Given the description of an element on the screen output the (x, y) to click on. 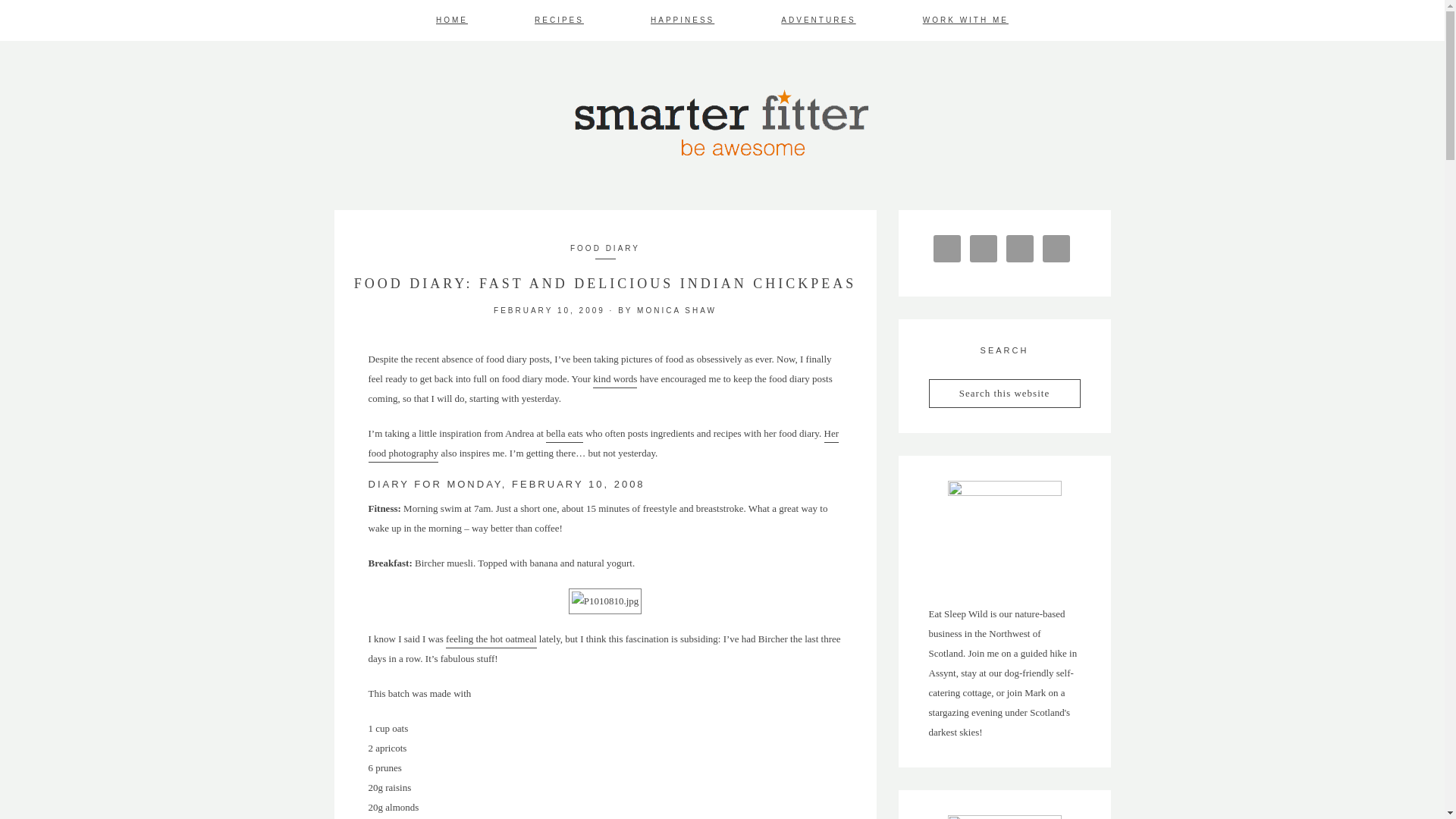
kind words (614, 380)
bella eats (564, 435)
FOOD DIARY (605, 248)
View 'P1010810.jpg' on Flickr.com (605, 601)
MONICA SHAW (676, 310)
WORK WITH ME (966, 20)
feeling the hot oatmeal (490, 640)
ADVENTURES (818, 20)
